Given the description of an element on the screen output the (x, y) to click on. 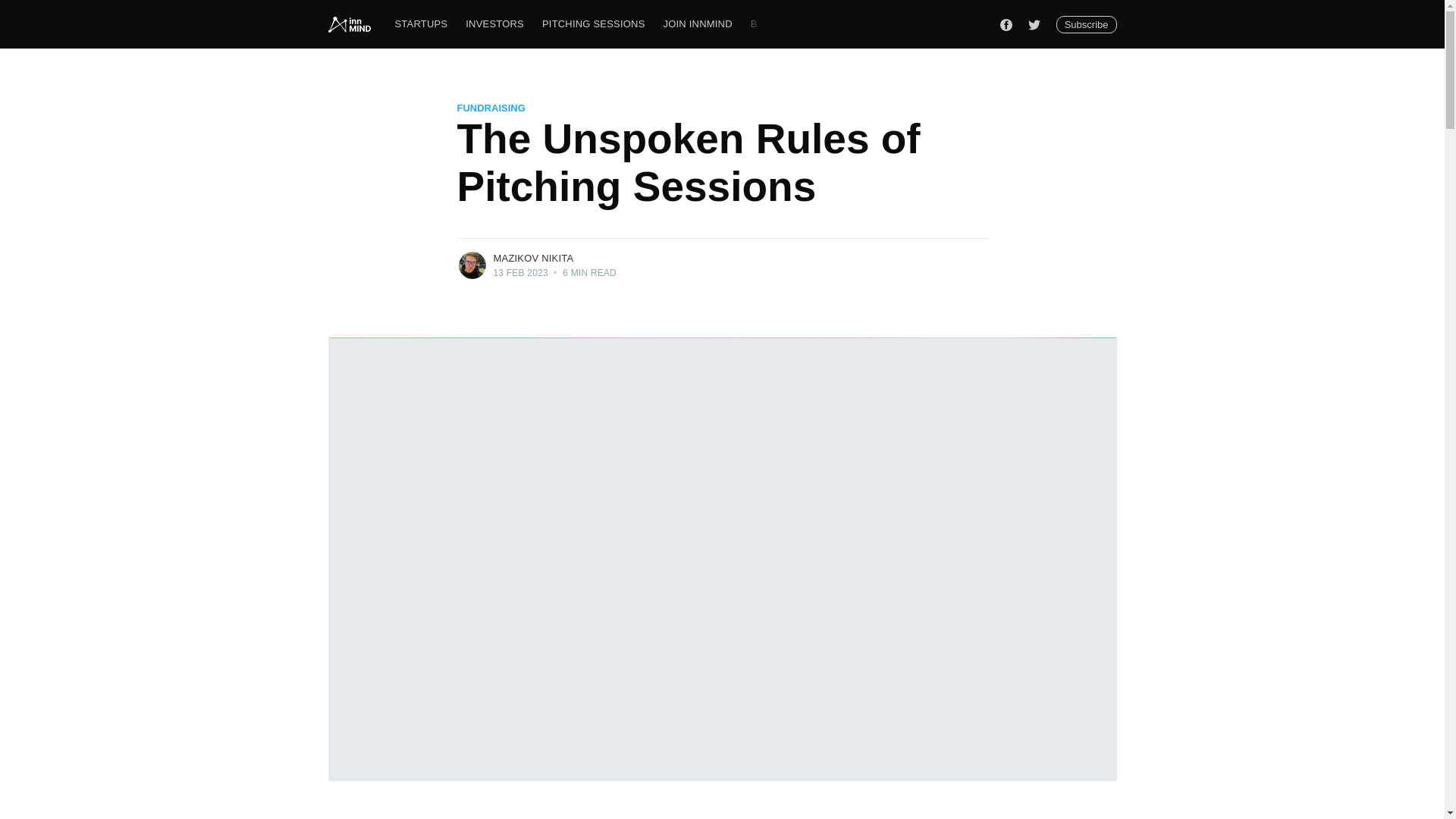
MAZIKOV NIKITA (533, 257)
BLOG (764, 24)
FUNDRAISING (490, 108)
STARTUPS (421, 24)
PITCHING SESSIONS (592, 24)
INVESTORS (494, 24)
Subscribe (1086, 23)
JOIN INNMIND (697, 24)
